Given the description of an element on the screen output the (x, y) to click on. 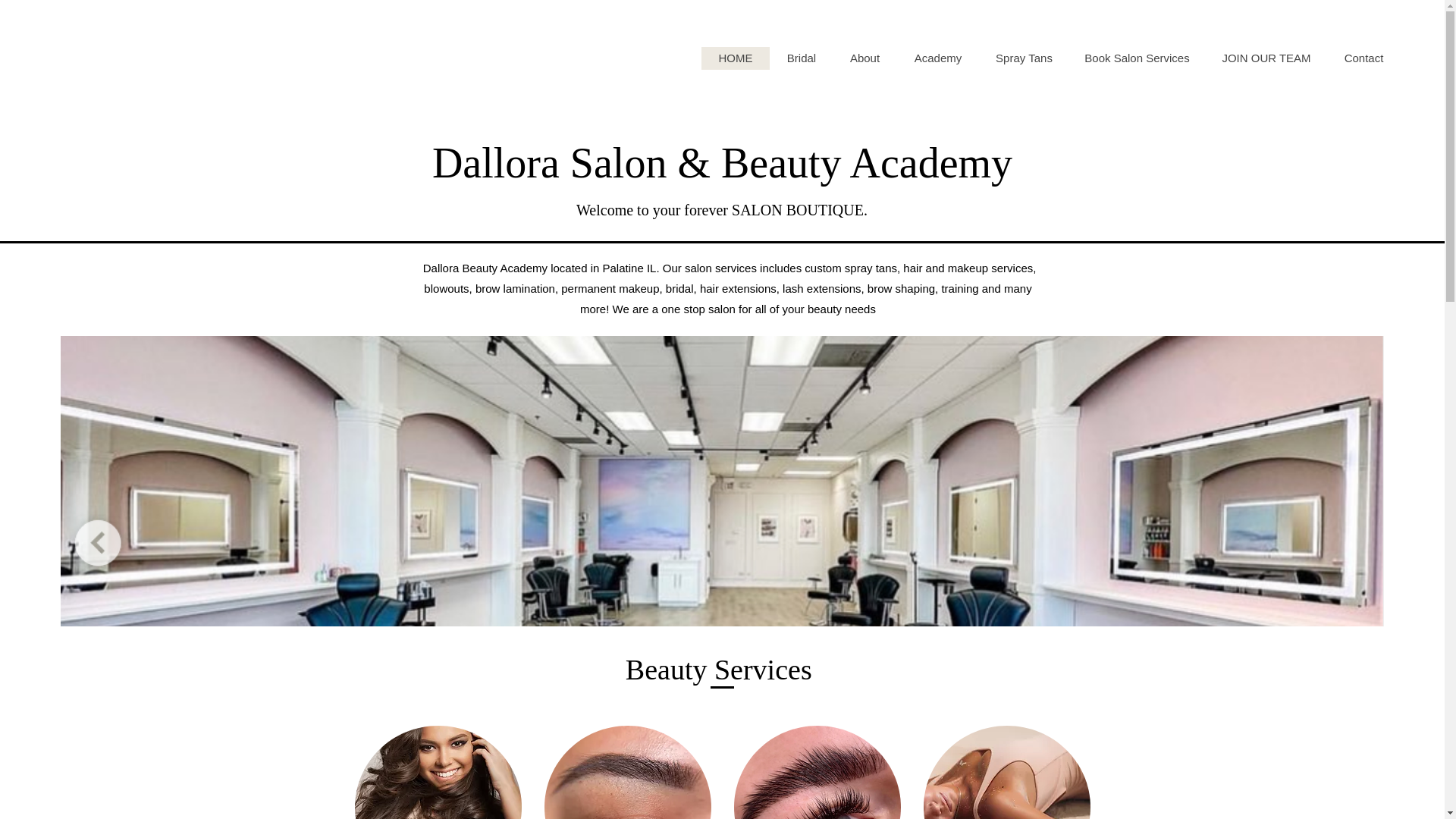
Book Salon Services (1136, 57)
JOIN OUR TEAM (1265, 57)
Contact (1362, 57)
About (864, 57)
Academy (937, 57)
HOME (735, 57)
Bridal (801, 57)
Log In (1367, 39)
